Given the description of an element on the screen output the (x, y) to click on. 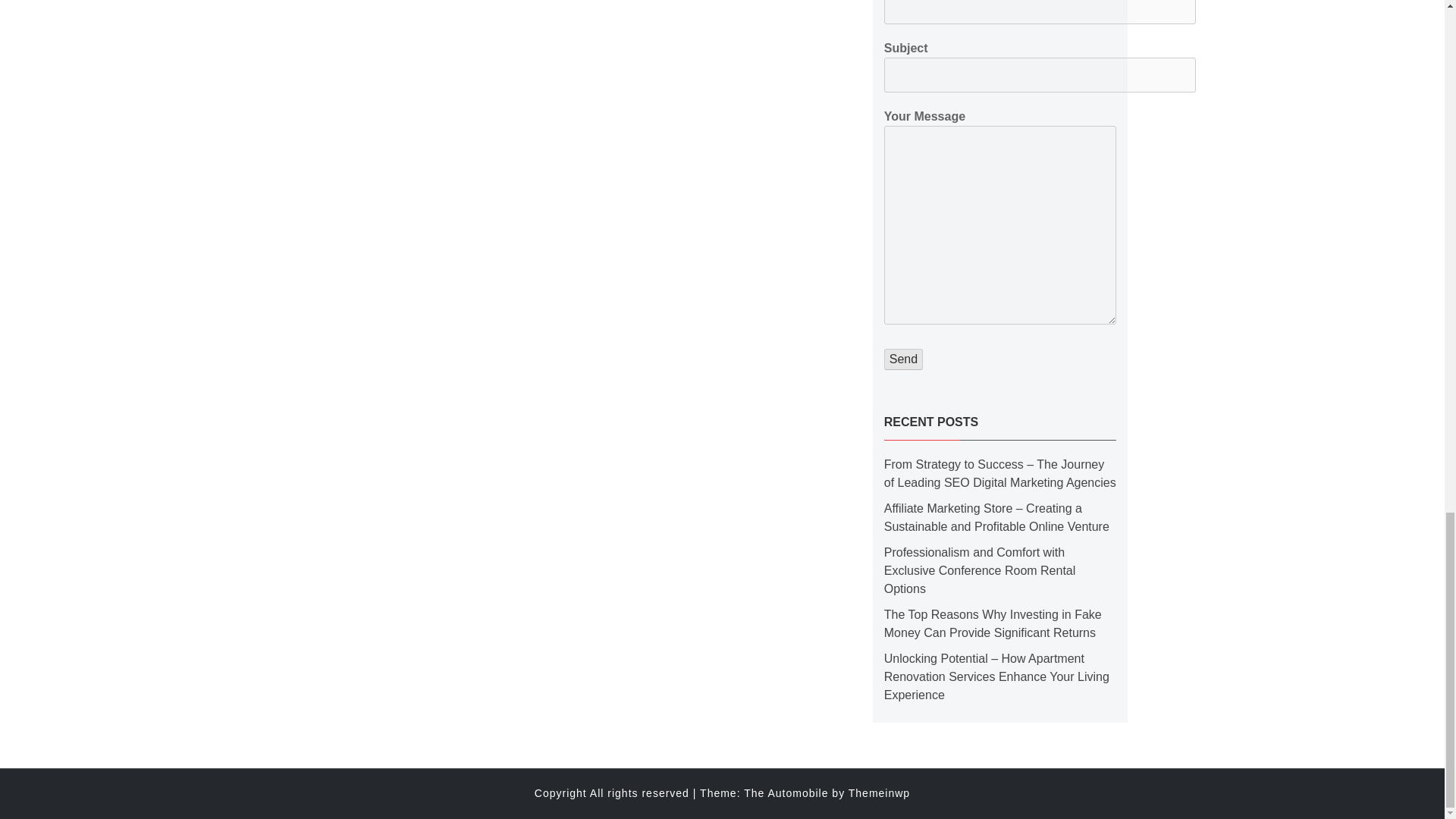
Send (903, 359)
Send (903, 359)
